Given the description of an element on the screen output the (x, y) to click on. 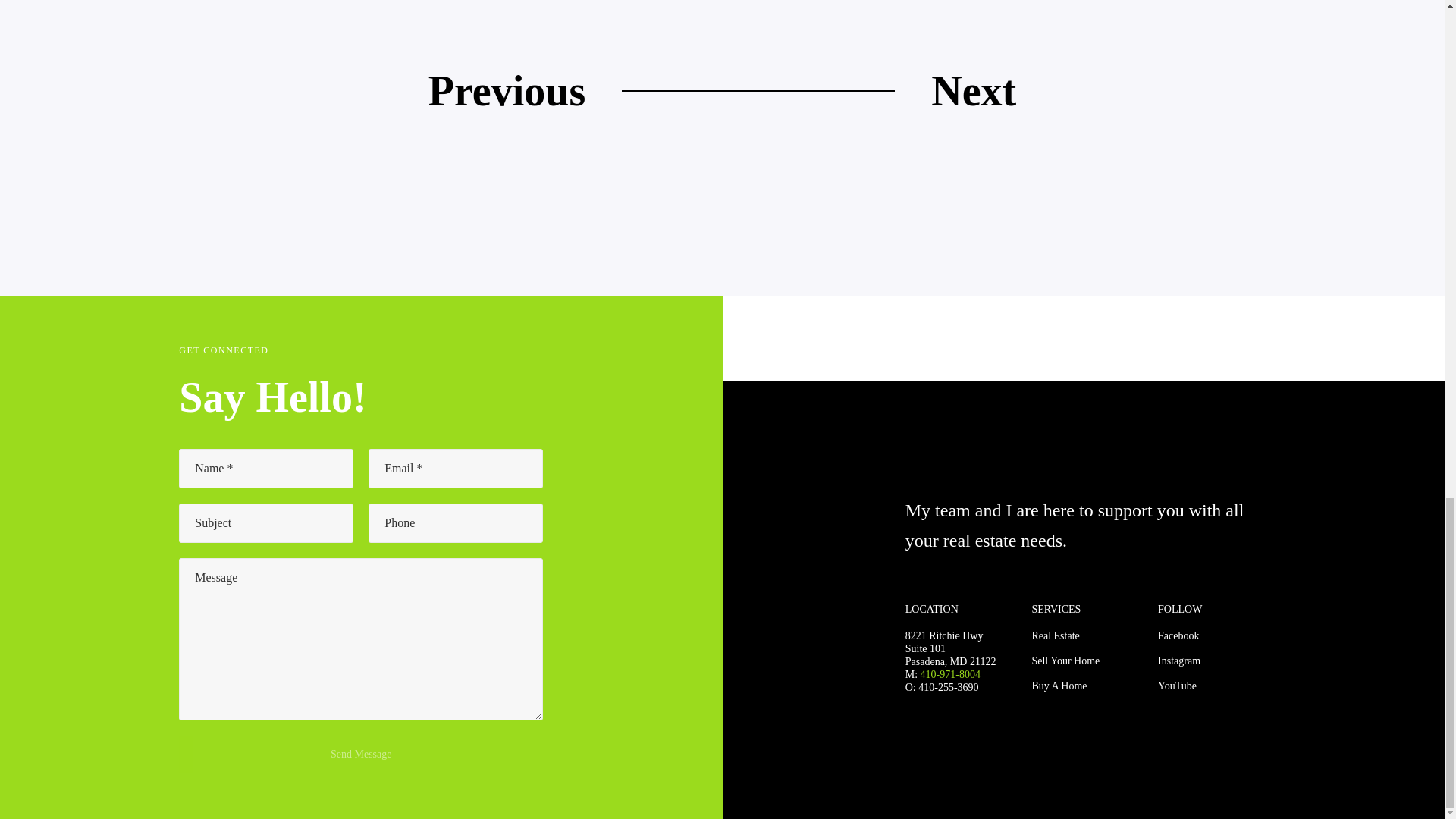
Real Estate (1054, 635)
Next (973, 90)
Sell Your Home (1064, 660)
Buy A Home (1058, 685)
410-971-8004 (949, 674)
Send Message (361, 754)
Instagram (1178, 660)
Send Message (361, 754)
Facebook (1177, 635)
YouTube (1176, 685)
Previous (506, 90)
